Given the description of an element on the screen output the (x, y) to click on. 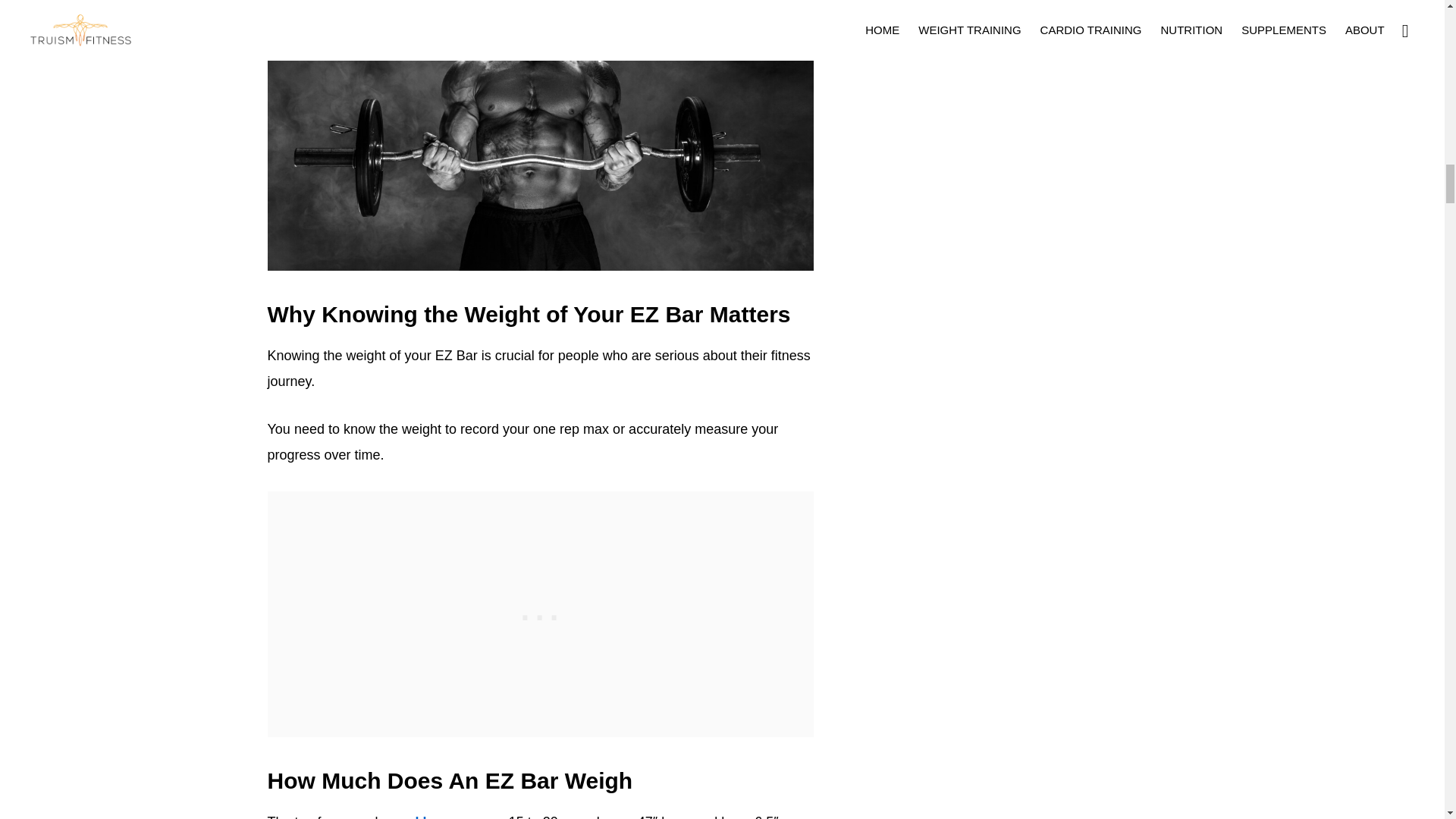
curl bars (422, 816)
